Given the description of an element on the screen output the (x, y) to click on. 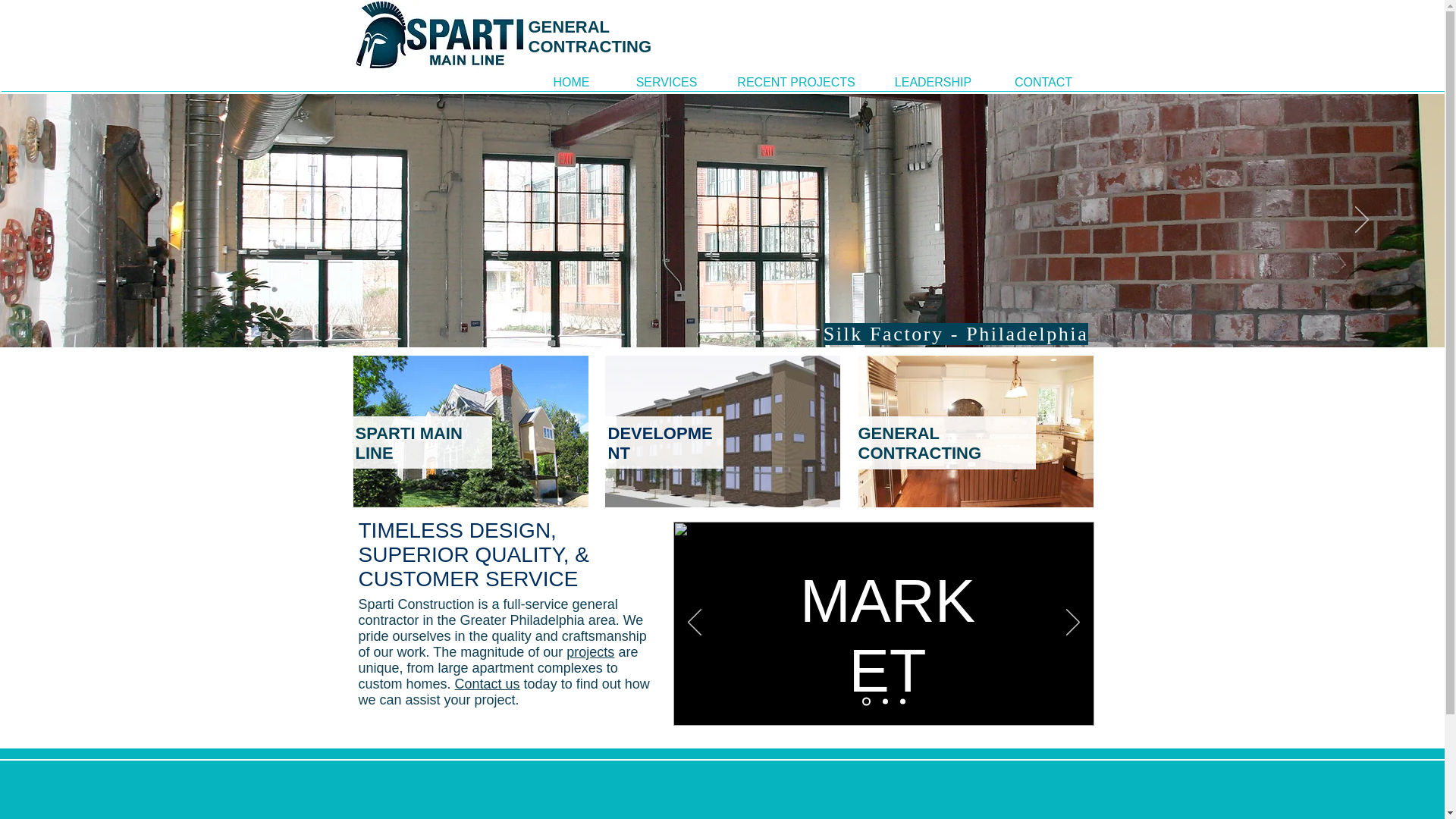
LEADERSHIP (932, 82)
SERVICES (665, 82)
custom home gladwyne pa.jpg (470, 430)
sparti construction riverview court.jpg (722, 430)
CONTACT (1042, 82)
HOME (570, 82)
RECENT PROJECTS (795, 82)
general contracting main line.jpg (976, 430)
